Given the description of an element on the screen output the (x, y) to click on. 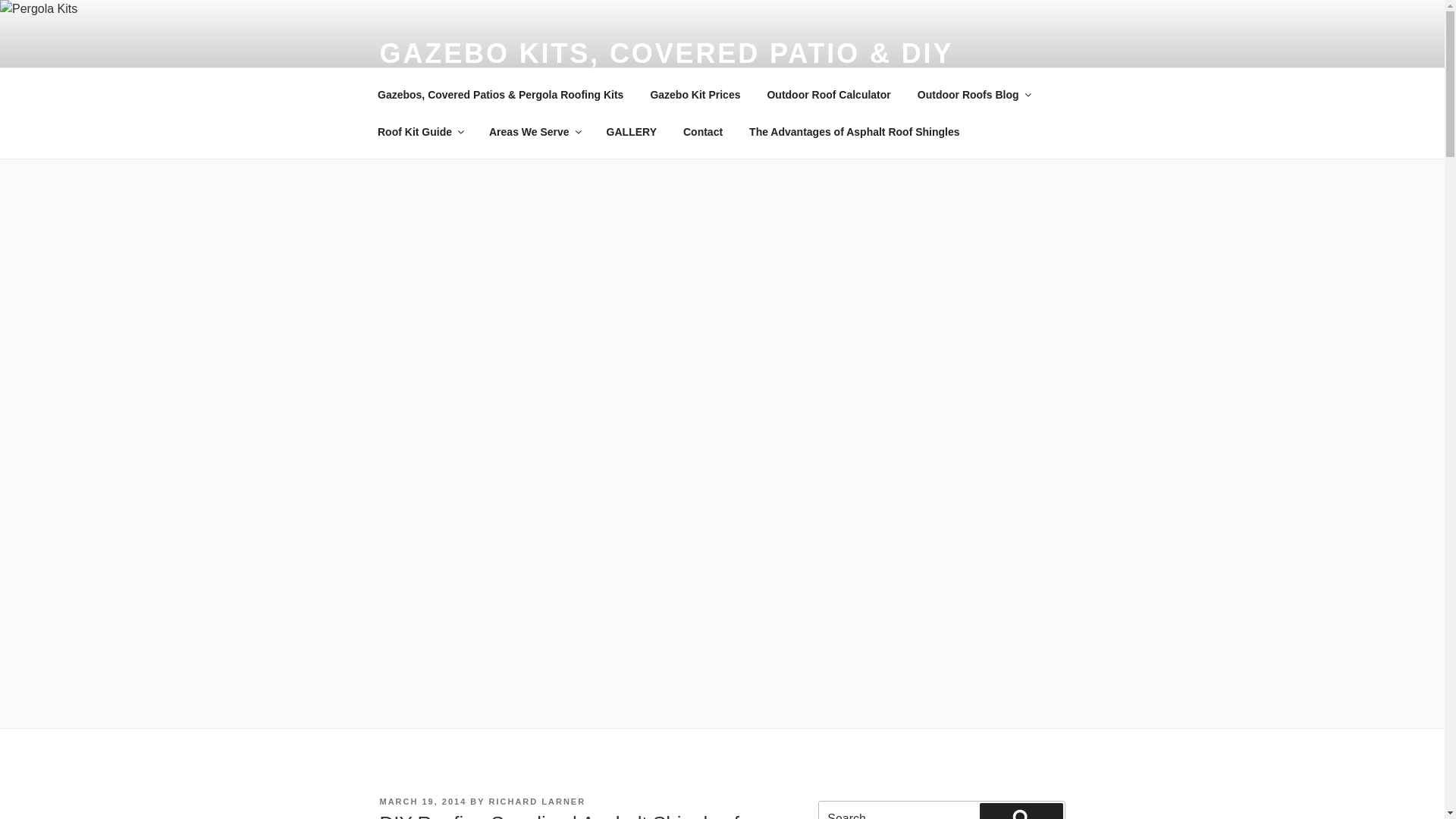
Contact Element type: text (702, 131)
GAZEBO KITS, COVERED PATIO & DIY PERGOLA ROOFING AUSTRALIA Element type: text (665, 70)
Roof Kit Guide Element type: text (419, 131)
Gazebos, Covered Patios & Pergola Roofing Kits Element type: text (500, 93)
Areas We Serve Element type: text (534, 131)
The Advantages of Asphalt Roof Shingles Element type: text (854, 131)
Outdoor Roof Calculator Element type: text (828, 93)
MARCH 19, 2014 Element type: text (422, 801)
RICHARD LARNER Element type: text (537, 801)
GALLERY Element type: text (631, 131)
Gazebo Kit Prices Element type: text (695, 93)
Outdoor Roofs Blog Element type: text (972, 93)
